Given the description of an element on the screen output the (x, y) to click on. 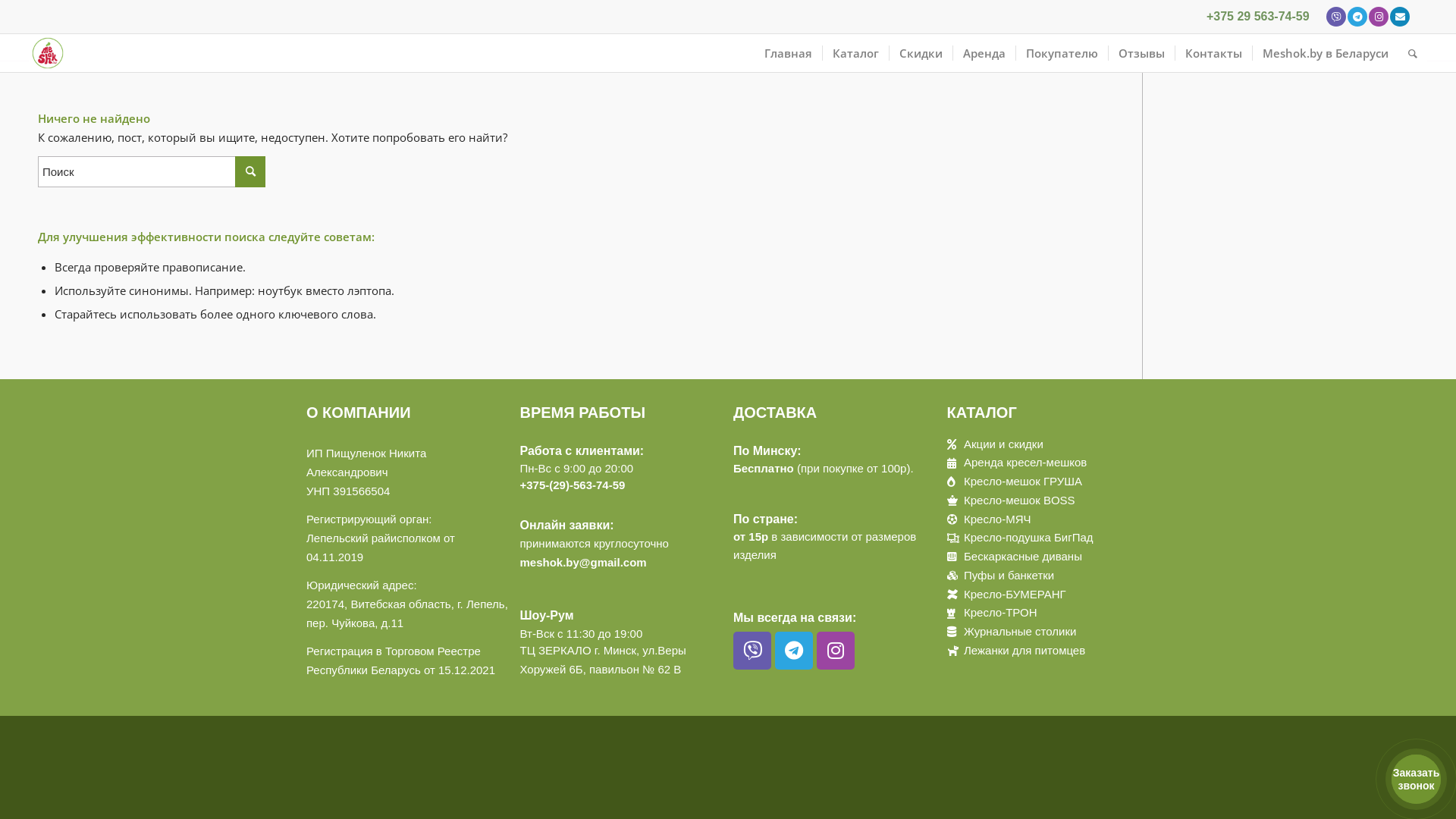
logo Element type: hover (47, 53)
+375 29 563-74-59 Element type: text (1257, 15)
